Given the description of an element on the screen output the (x, y) to click on. 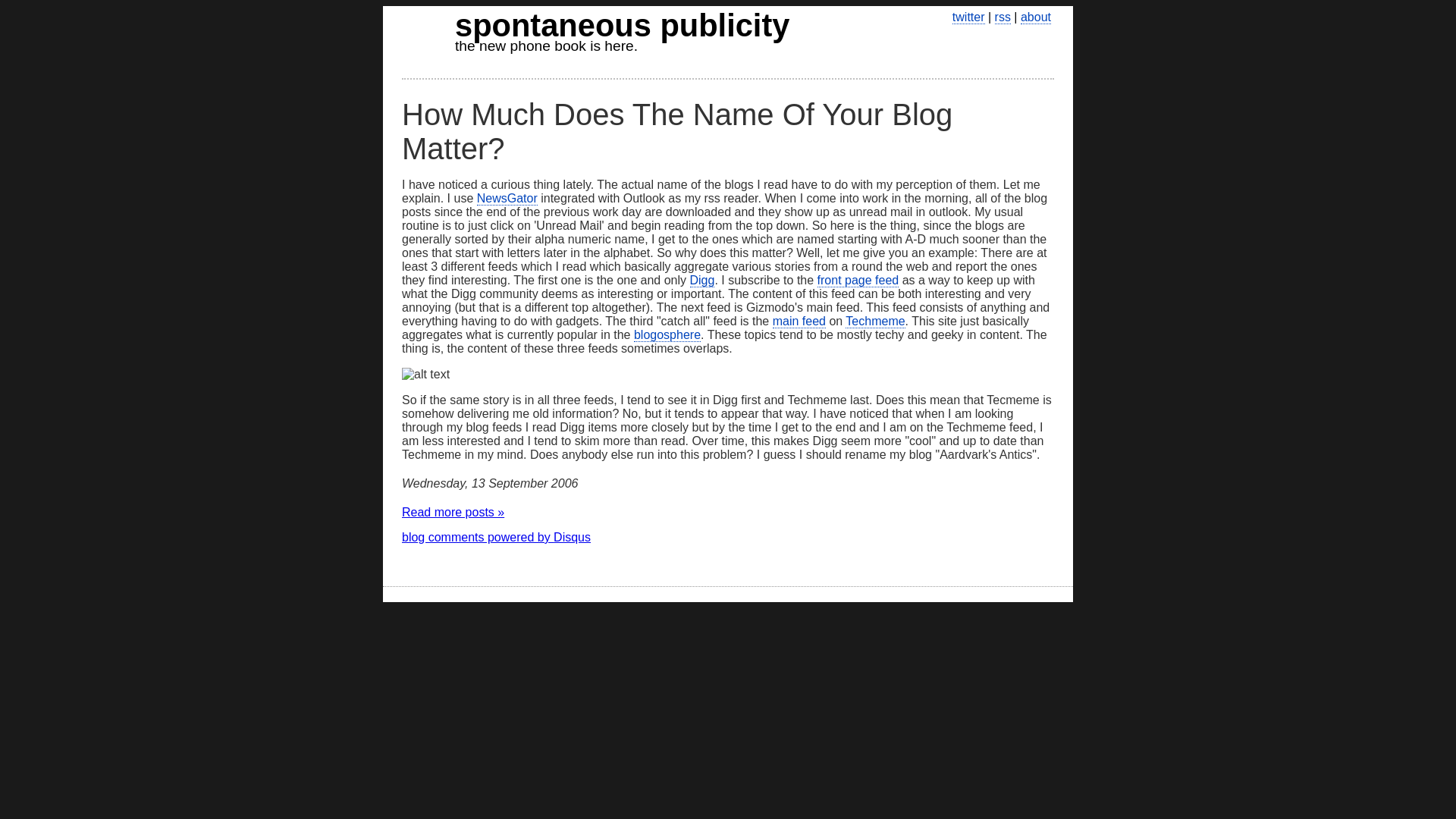
front page feed (857, 280)
rss (1002, 17)
Digg (702, 280)
main feed (799, 321)
blogosphere (666, 335)
about (1035, 17)
NewsGator (595, 30)
Techmeme (507, 198)
blog comments powered by Disqus (874, 321)
twitter (496, 536)
